Given the description of an element on the screen output the (x, y) to click on. 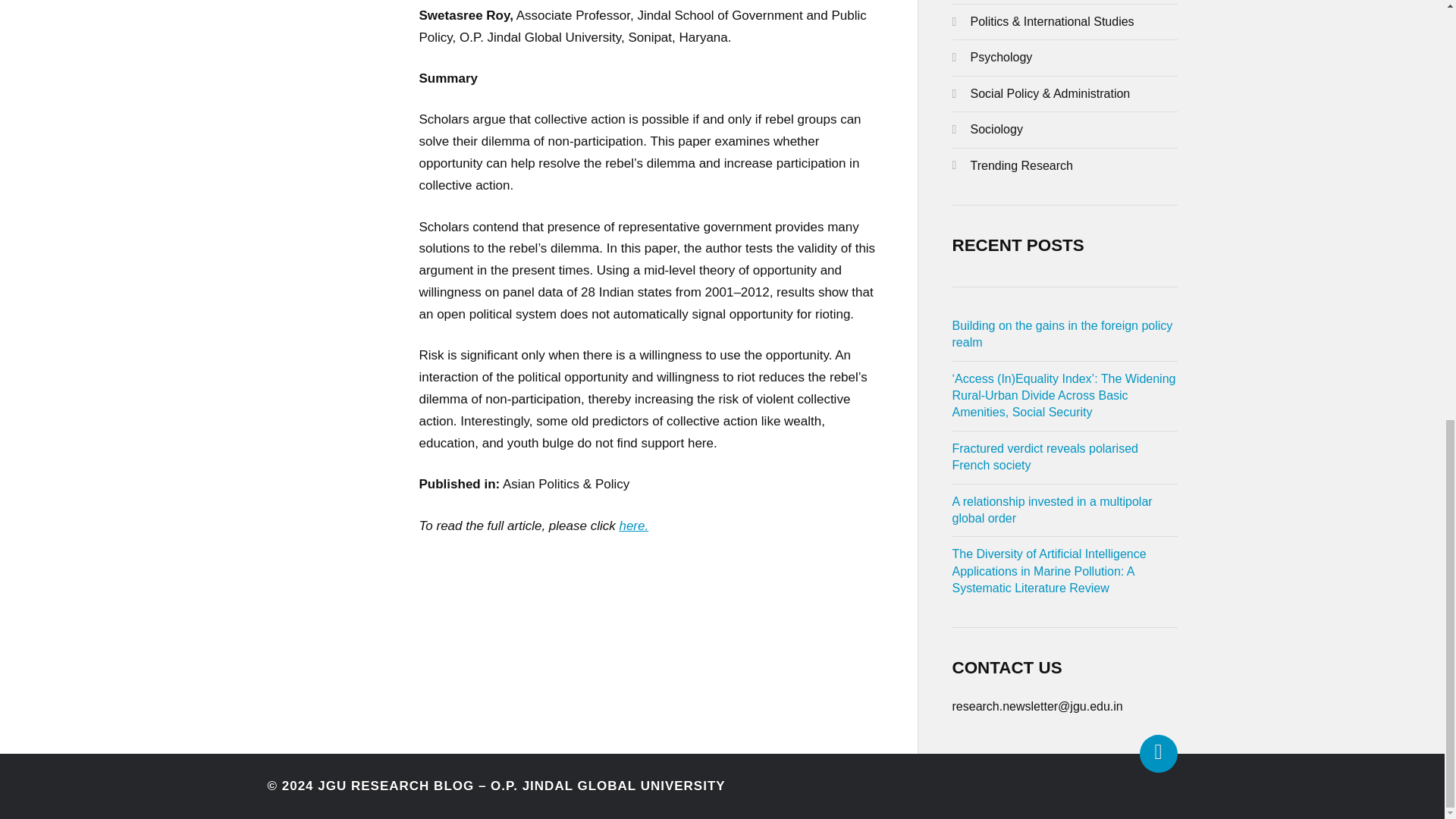
here. (632, 525)
